Given the description of an element on the screen output the (x, y) to click on. 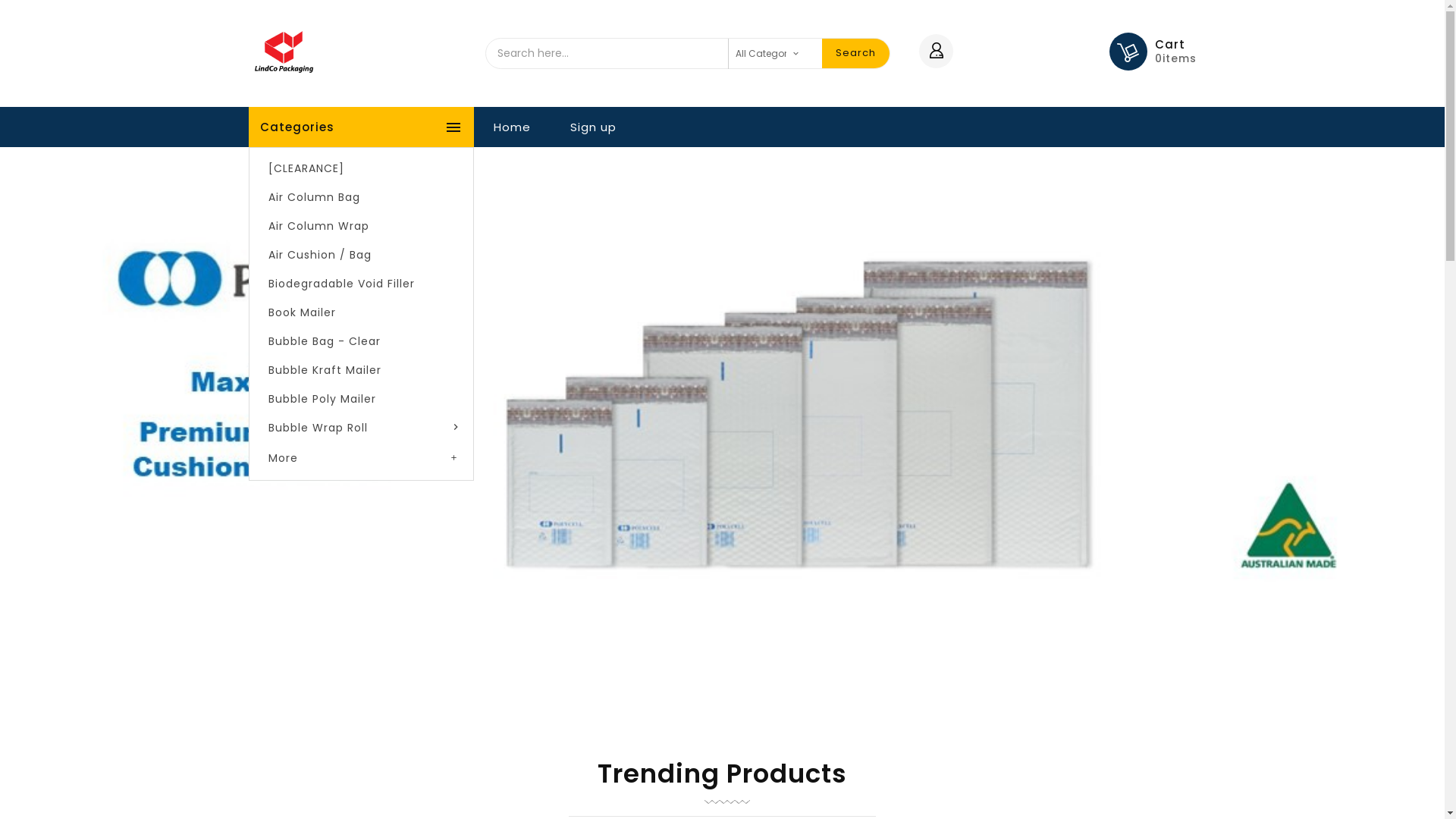
Air Column Wrap Element type: text (360, 225)
Air Column Bag Element type: text (360, 196)
Bubble Kraft Mailer Element type: text (360, 369)
Biodegradable Void Filler Element type: text (360, 283)
Sign up Element type: text (593, 126)
Book Mailer Element type: text (360, 312)
Search Element type: text (855, 53)
Bubble Poly Mailer Element type: text (360, 398)
Cart
0items Element type: text (1174, 51)
Home Element type: text (511, 126)
Air Cushion / Bag Element type: text (360, 254)
[CLEARANCE] Element type: text (360, 167)
Bubble Bag - Clear Element type: text (360, 340)
